Given the description of an element on the screen output the (x, y) to click on. 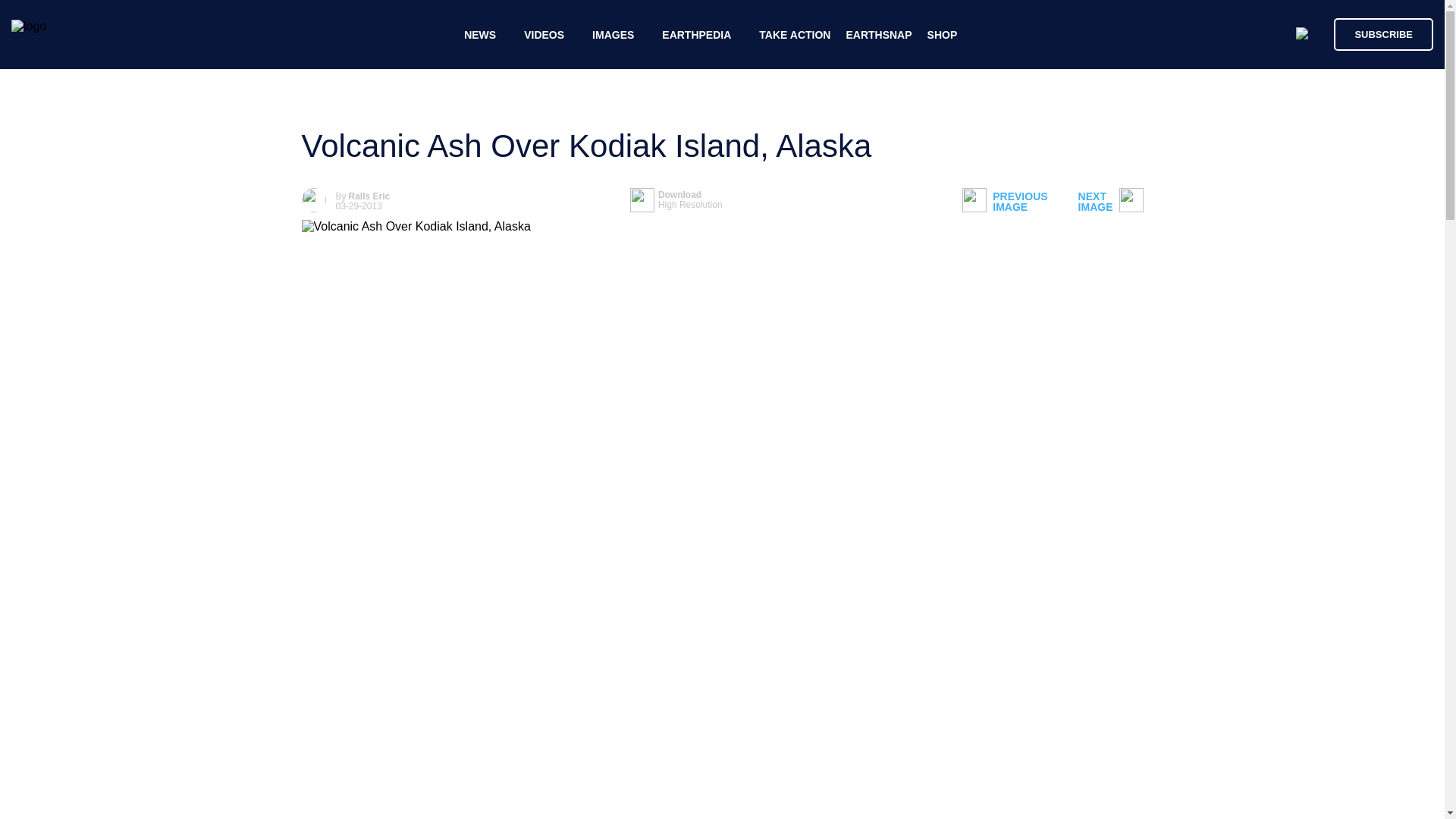
EARTHSNAP (878, 34)
SUBSCRIBE (1382, 34)
TAKE ACTION (793, 34)
Ralls Eric (1004, 201)
SHOP (676, 200)
